Given the description of an element on the screen output the (x, y) to click on. 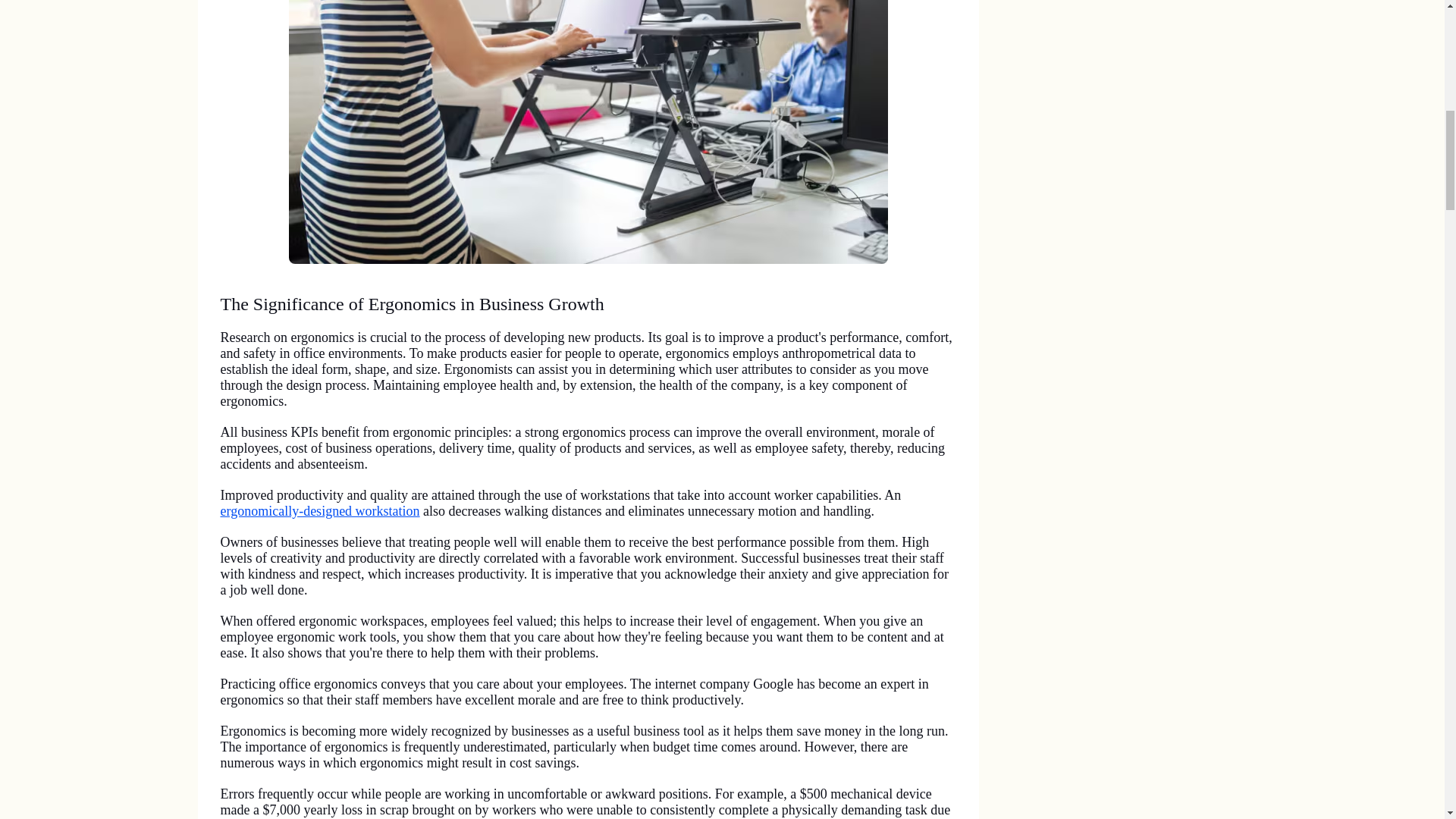
ergonomically-designed workstation (319, 510)
